Given the description of an element on the screen output the (x, y) to click on. 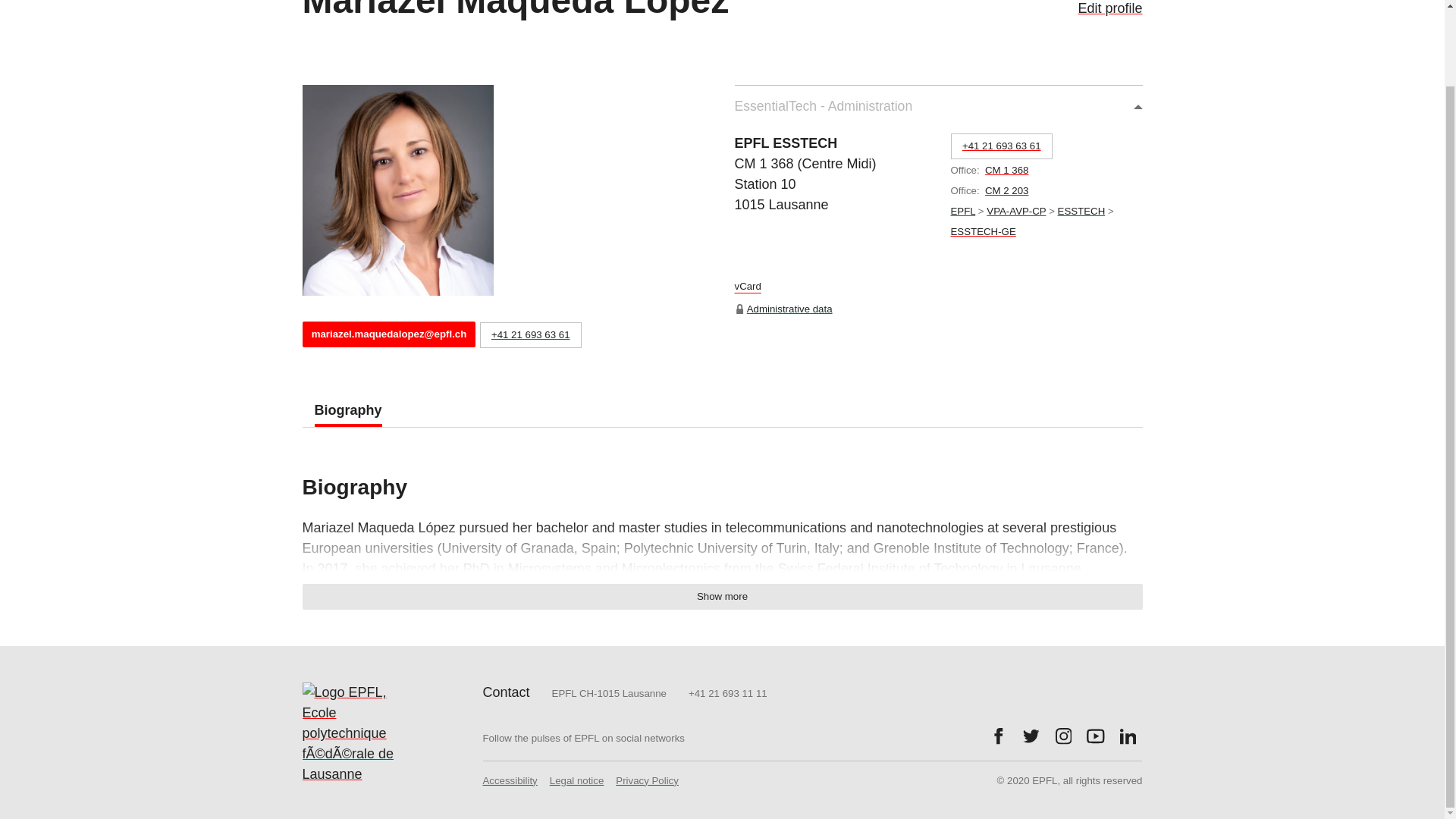
Accessibility (509, 786)
Follow us on Youtube. (1095, 736)
VPA-AVP-CP (1016, 211)
Legal notice (577, 786)
CM 1 368 (1007, 170)
Follow us on Twitter. (1030, 736)
EPFL (962, 211)
ESSTECH (1081, 211)
Biography (347, 409)
Privacy Policy (646, 786)
Follow us on LinkedIn. (1127, 736)
Edit profile (1109, 7)
CM 2 203 (1007, 190)
vCard (746, 288)
ESSTECH-GE (983, 231)
